Given the description of an element on the screen output the (x, y) to click on. 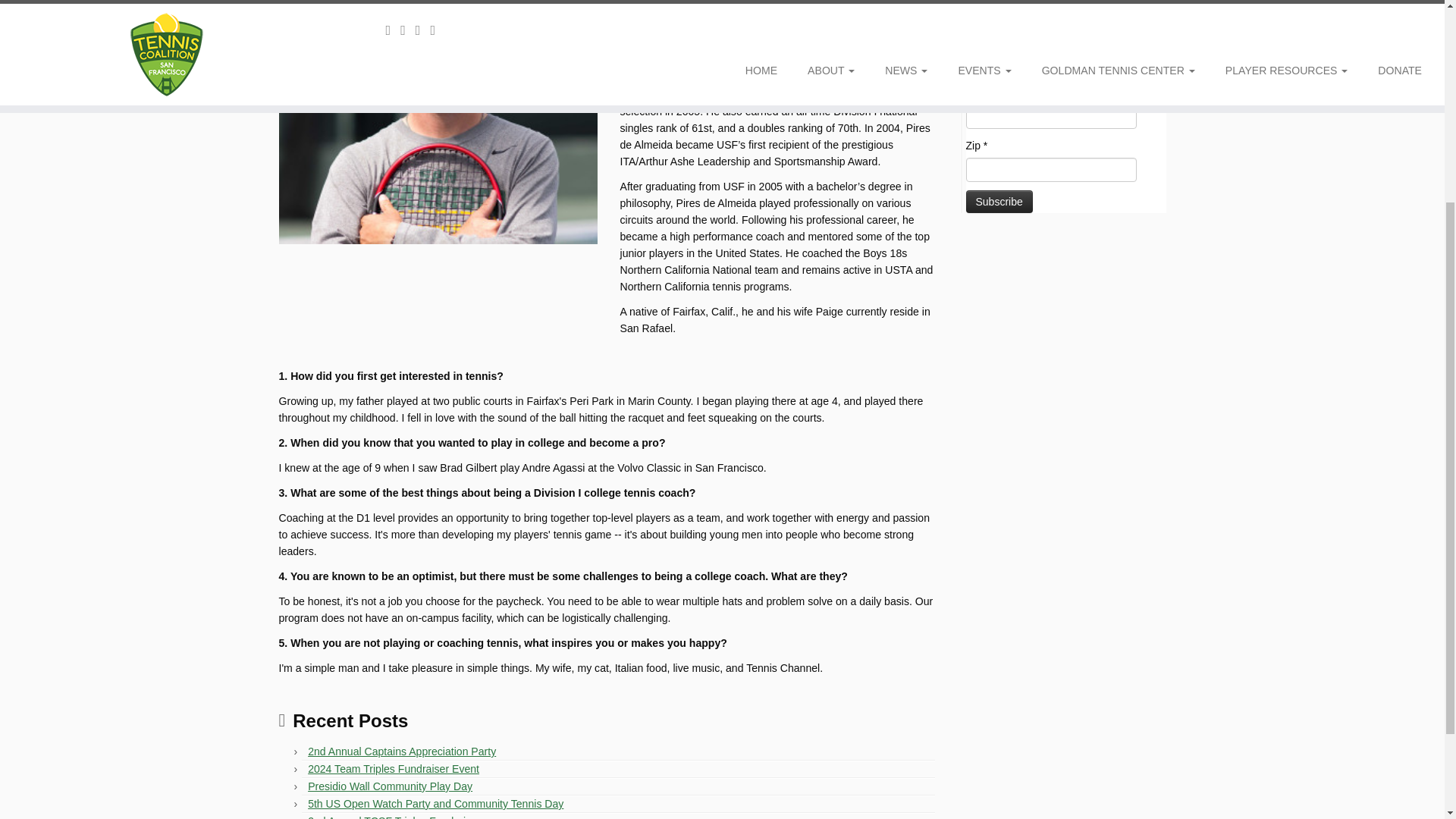
Subscribe (999, 201)
